Given the description of an element on the screen output the (x, y) to click on. 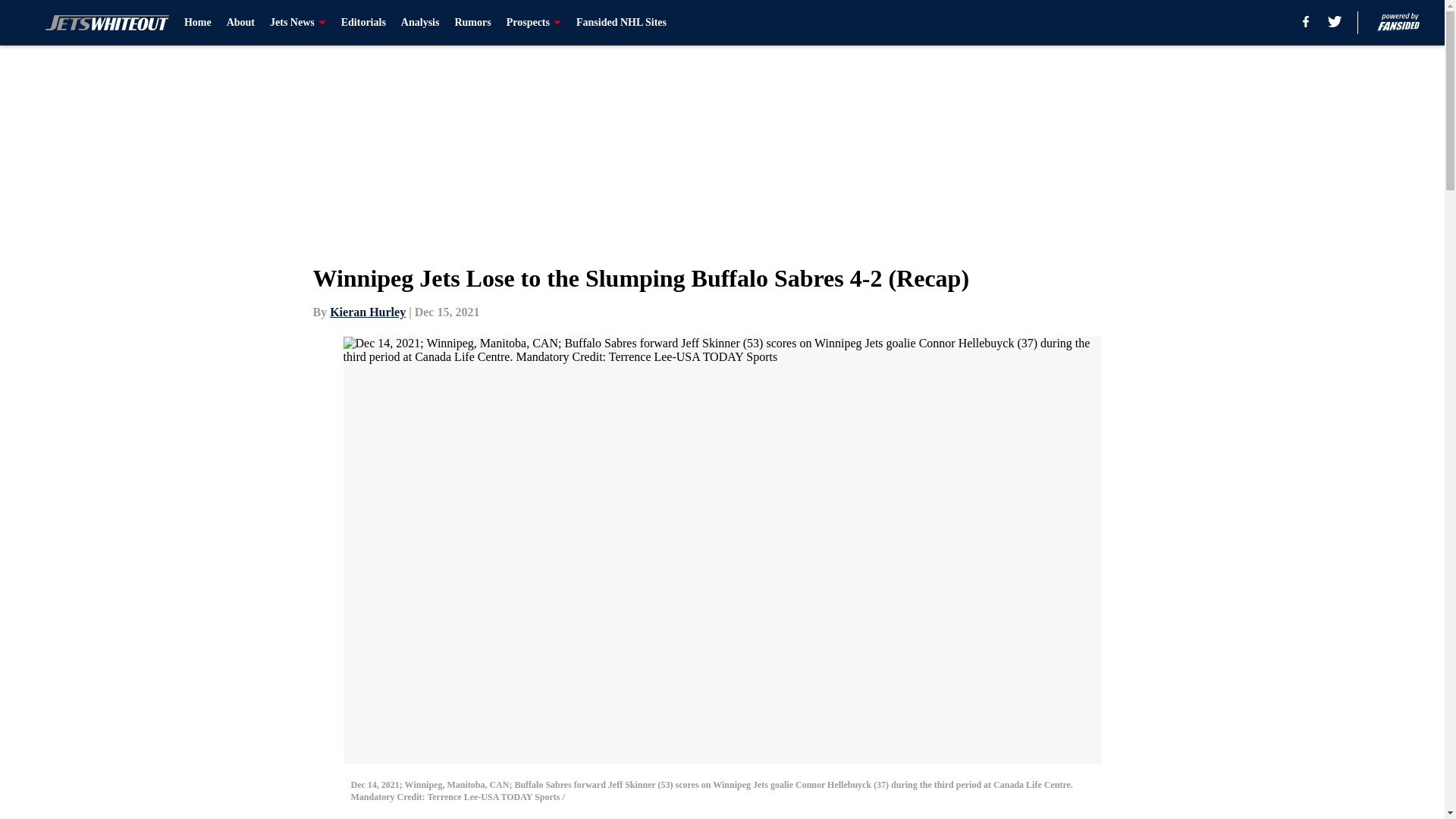
About (240, 22)
Analysis (420, 22)
Fansided NHL Sites (621, 22)
Editorials (362, 22)
Kieran Hurley (368, 311)
Rumors (472, 22)
Home (197, 22)
